Given the description of an element on the screen output the (x, y) to click on. 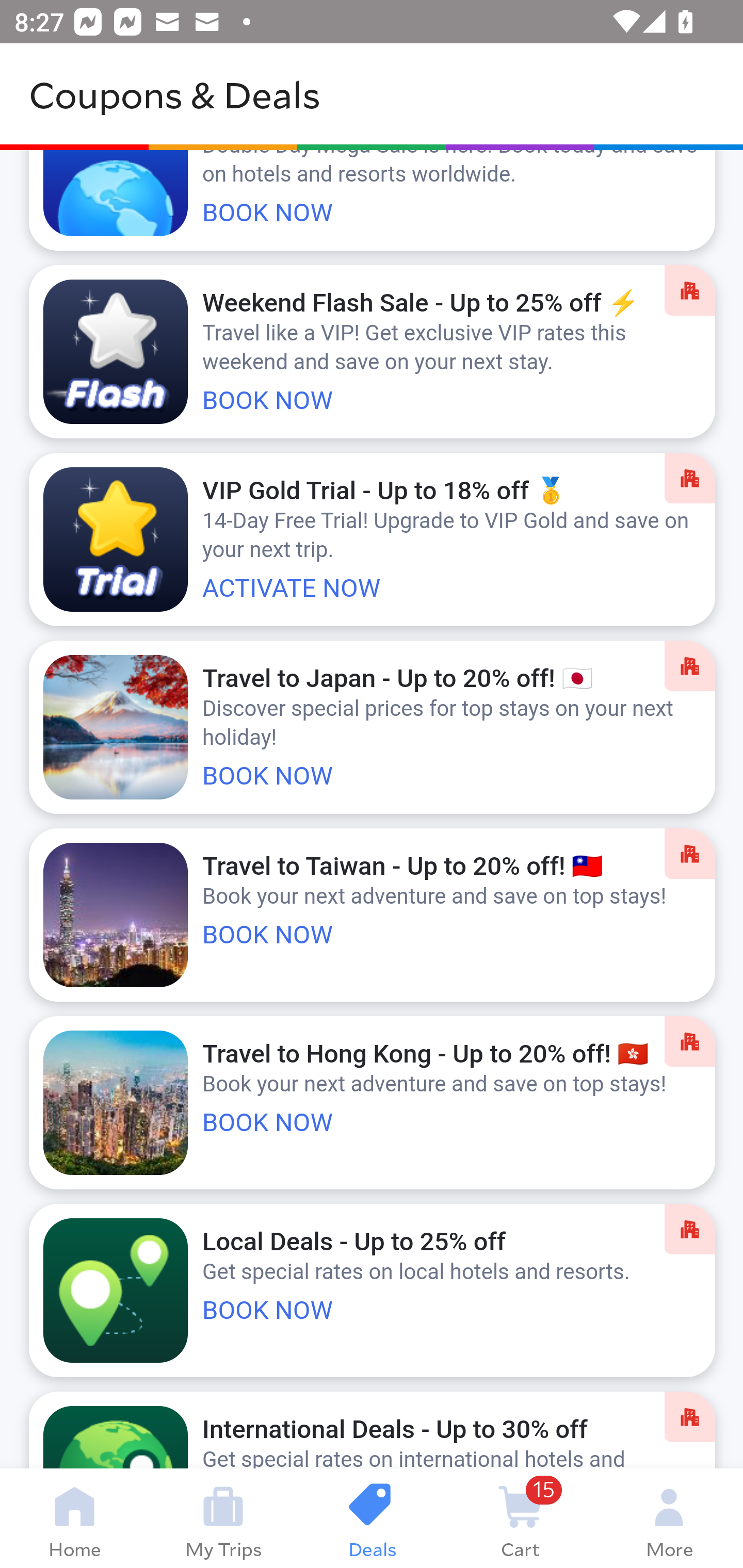
Home (74, 1518)
My Trips (222, 1518)
Deals (371, 1518)
15 Cart (519, 1518)
More (668, 1518)
